Given the description of an element on the screen output the (x, y) to click on. 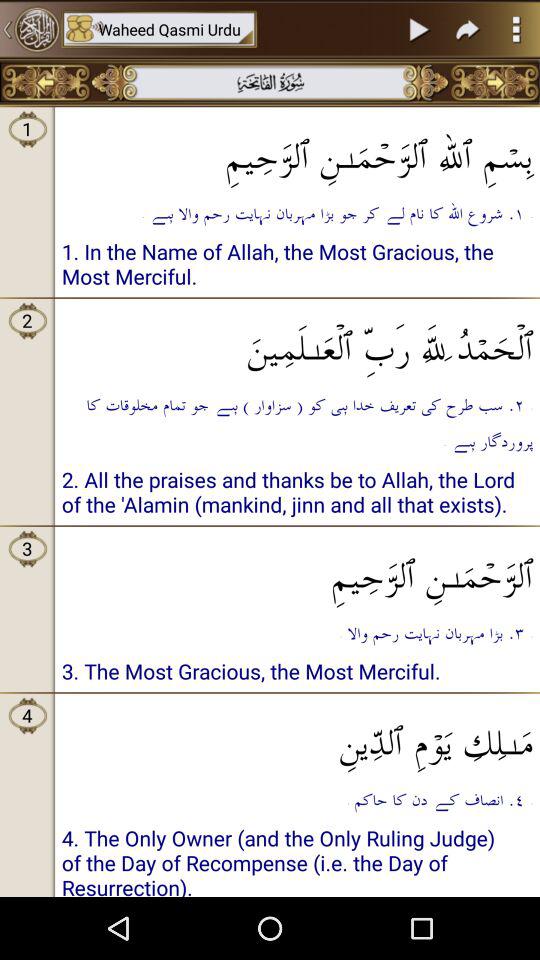
choose icon next to the 3 (297, 569)
